Given the description of an element on the screen output the (x, y) to click on. 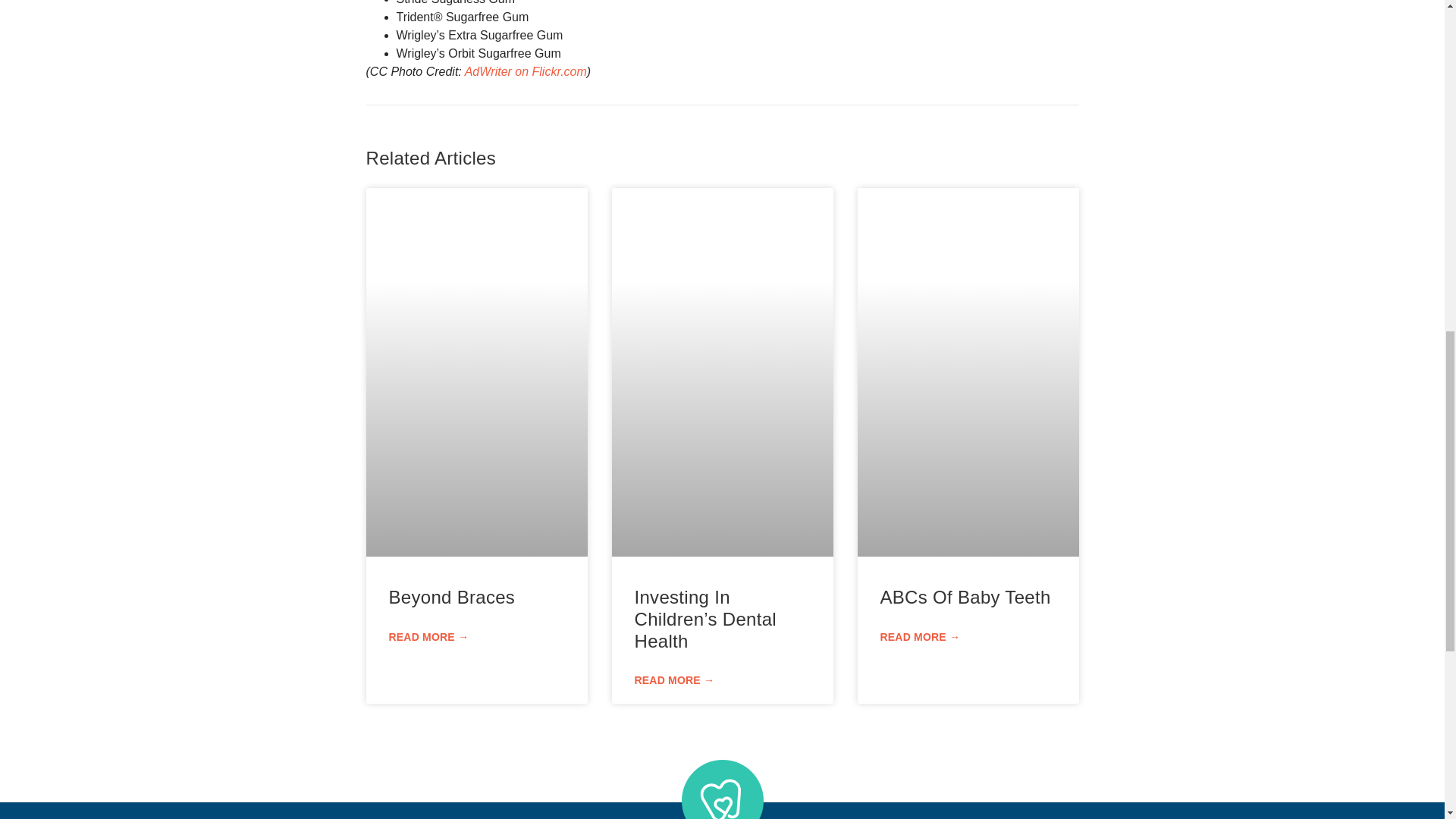
ABCs Of Baby Teeth (964, 597)
Beyond Braces (451, 597)
AdWriter on Flickr.com (525, 71)
